Given the description of an element on the screen output the (x, y) to click on. 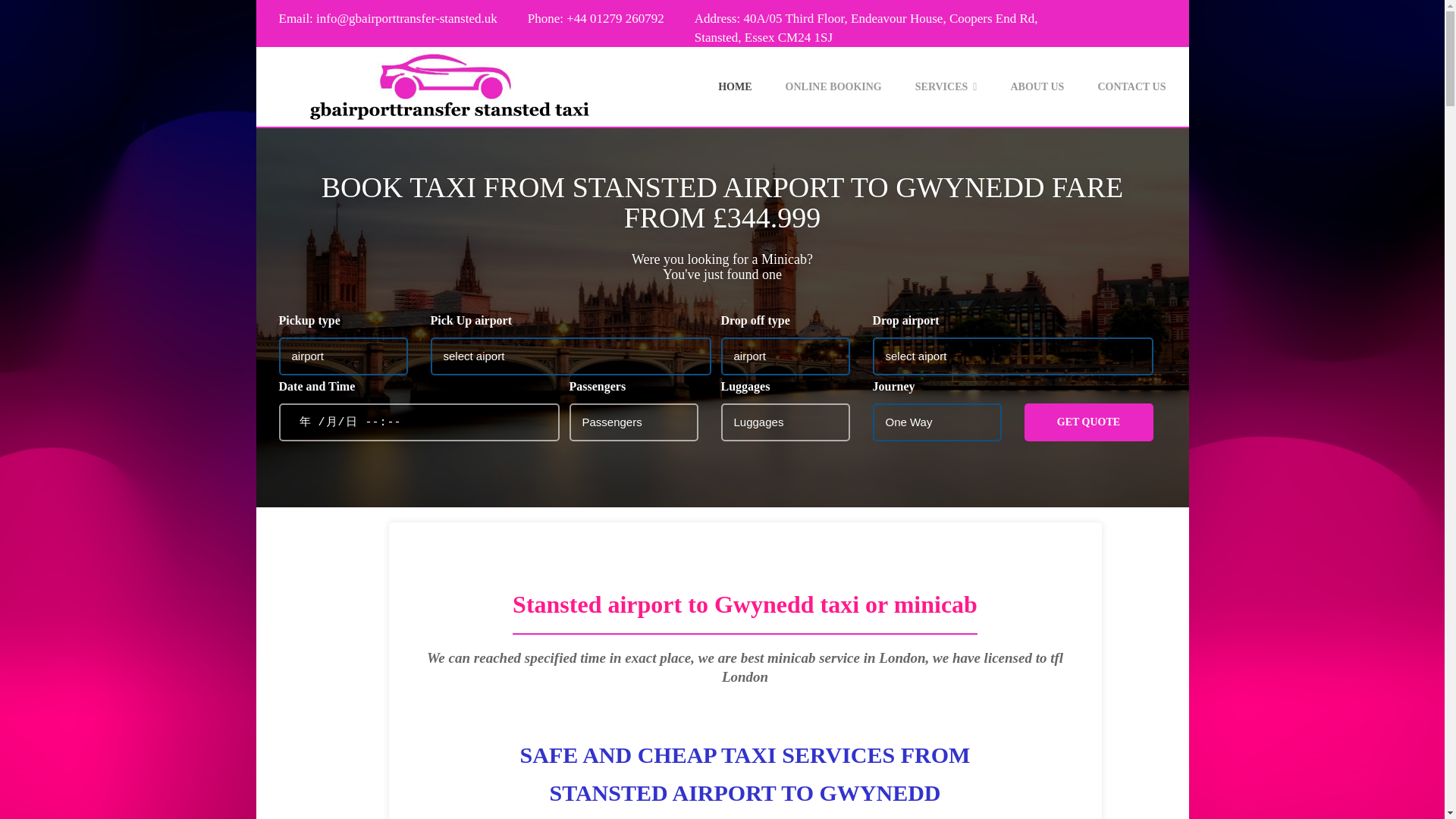
SERVICES (722, 86)
HOME (946, 86)
ONLINE BOOKING (734, 86)
